Given the description of an element on the screen output the (x, y) to click on. 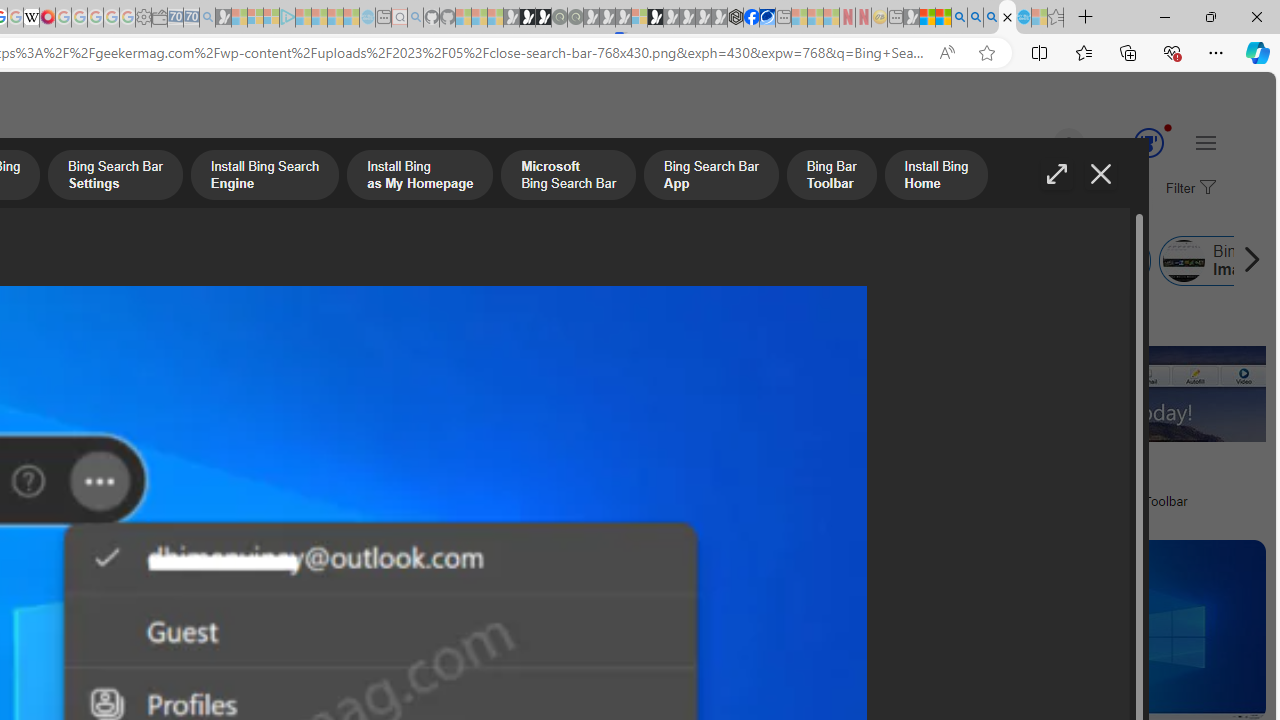
Bing Bar Download (903, 260)
Image result for Bing Search Bar Install (1106, 630)
Scroll right (1246, 260)
2009 Bing officially replaced Live Search on June 3 - Search (975, 17)
Install Bing Search Engine (264, 177)
1:46 (295, 322)
